Given the description of an element on the screen output the (x, y) to click on. 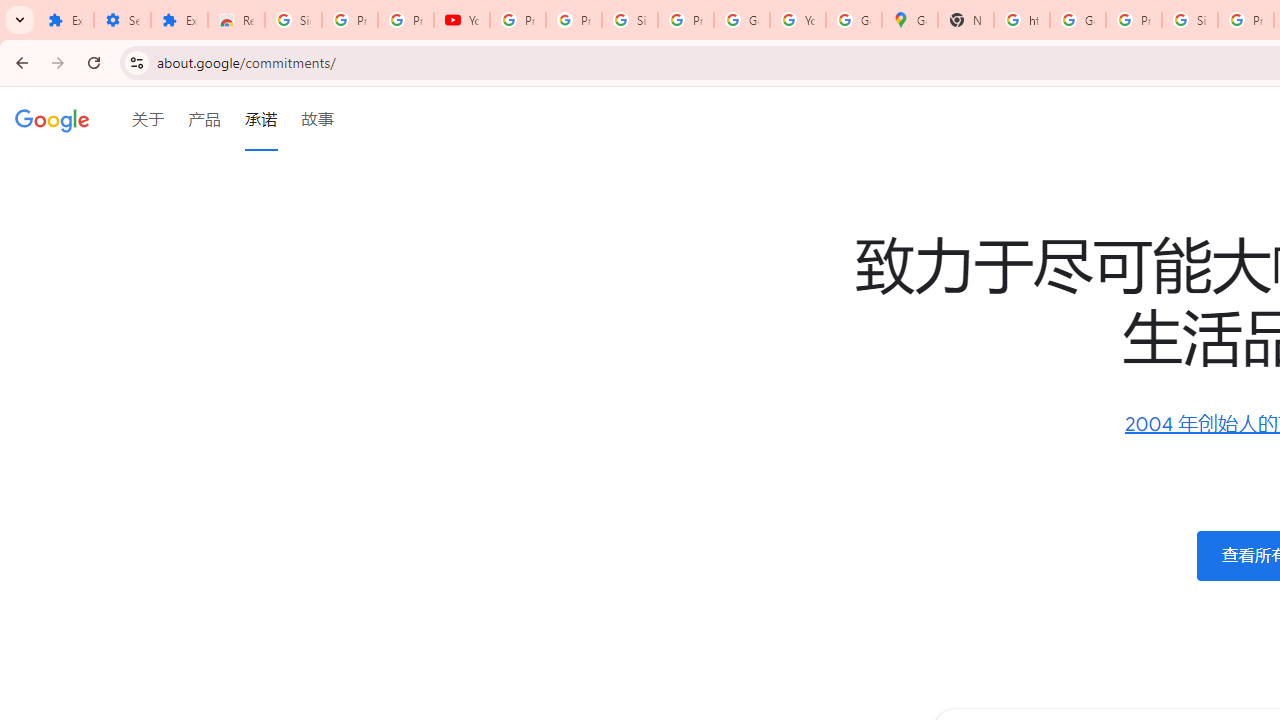
Sign in - Google Accounts (629, 20)
